Given the description of an element on the screen output the (x, y) to click on. 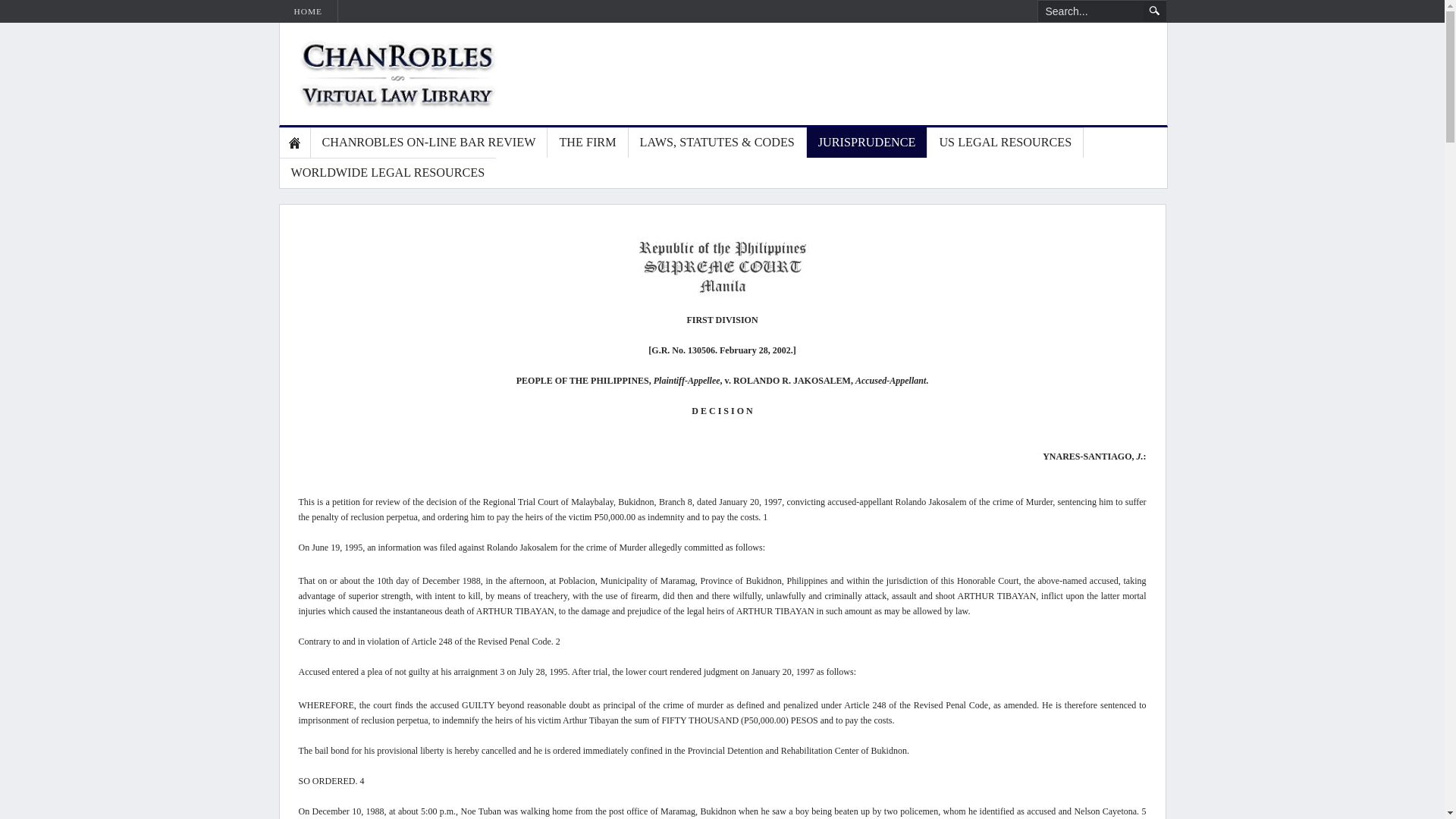
Search... (1089, 11)
US LEGAL RESOURCES (1005, 142)
Home of ChanRobles Virtual Law Library (381, 73)
Jurisprudence (867, 142)
JURISPRUDENCE (867, 142)
HOME (308, 11)
Home (294, 142)
ChanRobles On-Line Bar Review (429, 142)
US Legal Resources (1005, 142)
Search (1154, 11)
